Given the description of an element on the screen output the (x, y) to click on. 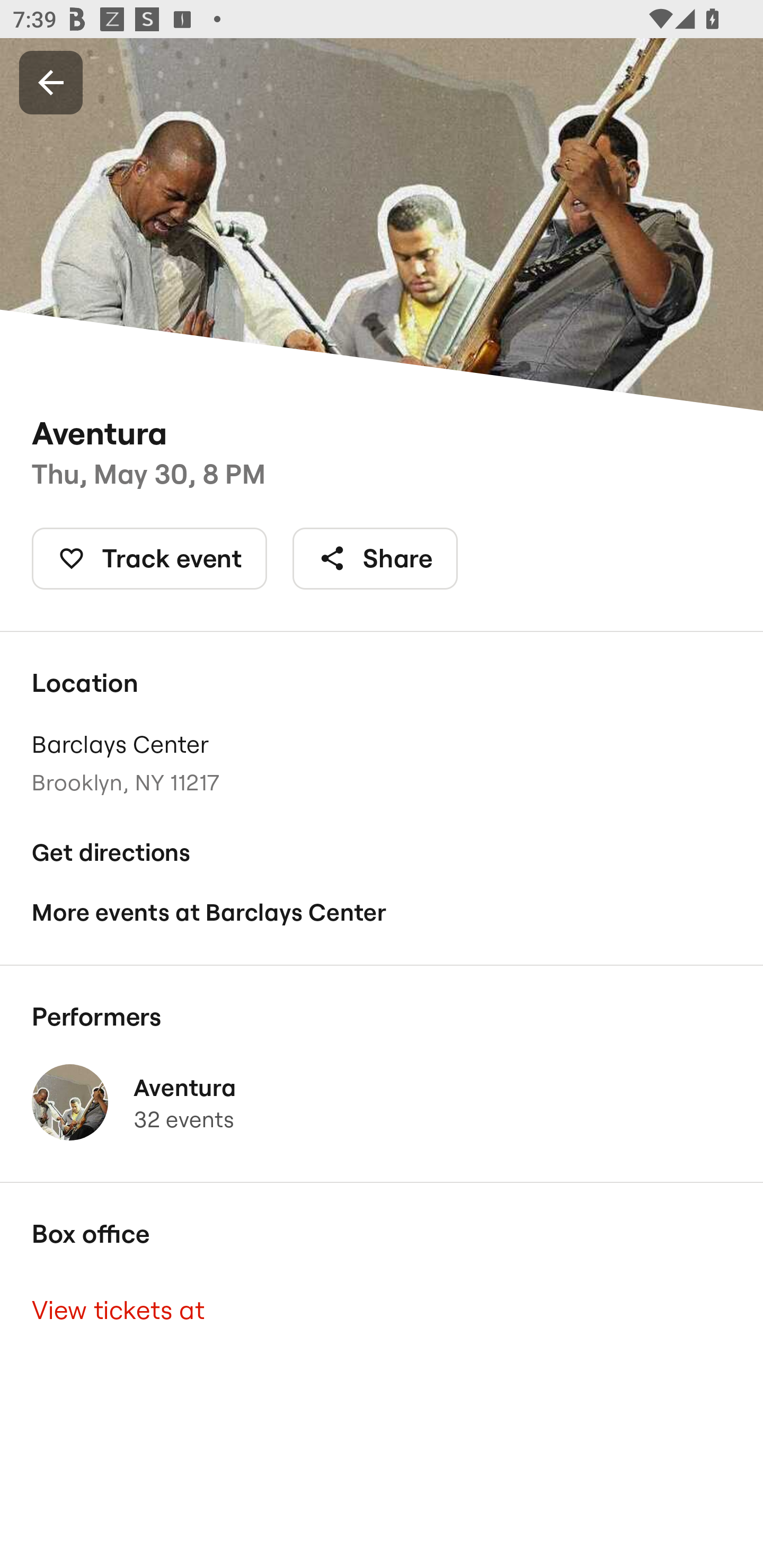
Back (50, 81)
Track event (149, 557)
Share (374, 557)
Get directions (381, 852)
More events at Barclays Center (381, 912)
Aventura 32 events (381, 1102)
View tickets at  (381, 1309)
